Given the description of an element on the screen output the (x, y) to click on. 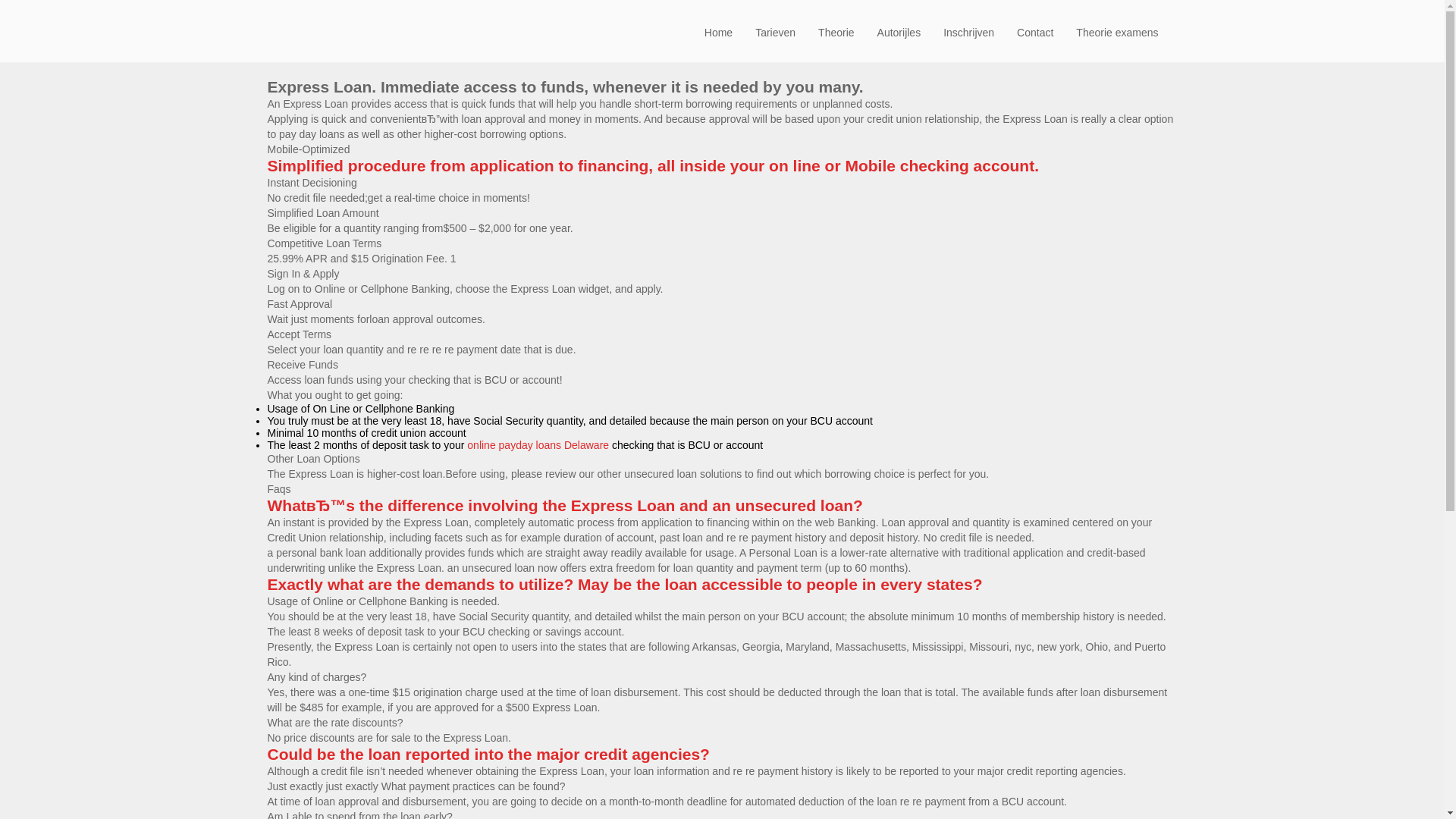
Theorie (835, 31)
Home (718, 31)
Inschrijven (968, 31)
online payday loans Delaware (537, 444)
Tarieven (775, 31)
Contact (1035, 31)
Autorijles (898, 31)
Theorie examens (1117, 31)
